Given the description of an element on the screen output the (x, y) to click on. 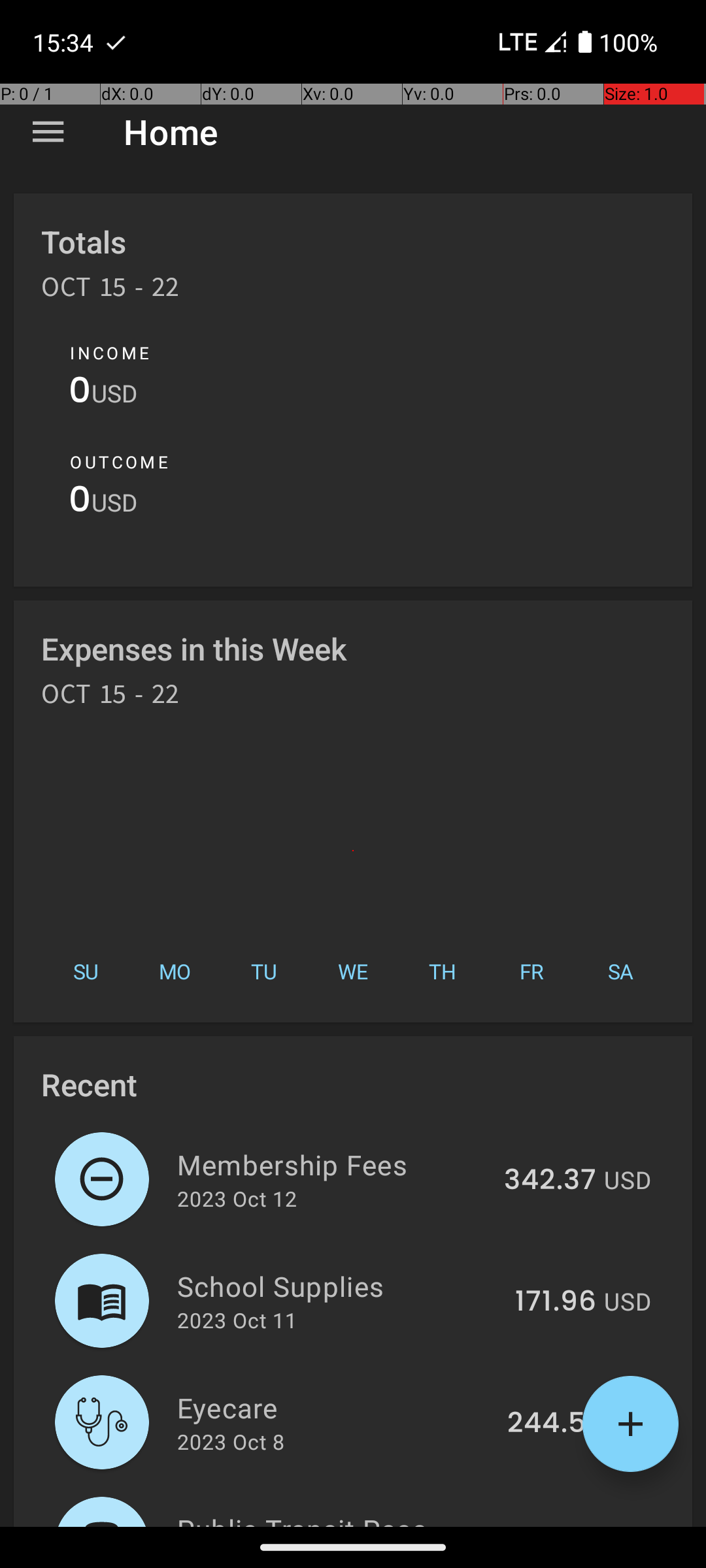
342.37 Element type: android.widget.TextView (549, 1180)
School Supplies Element type: android.widget.TextView (338, 1285)
171.96 Element type: android.widget.TextView (555, 1301)
Eyecare Element type: android.widget.TextView (334, 1407)
244.51 Element type: android.widget.TextView (551, 1423)
Public Transit Pass Element type: android.widget.TextView (339, 1518)
411.22 Element type: android.widget.TextView (556, 1524)
